Given the description of an element on the screen output the (x, y) to click on. 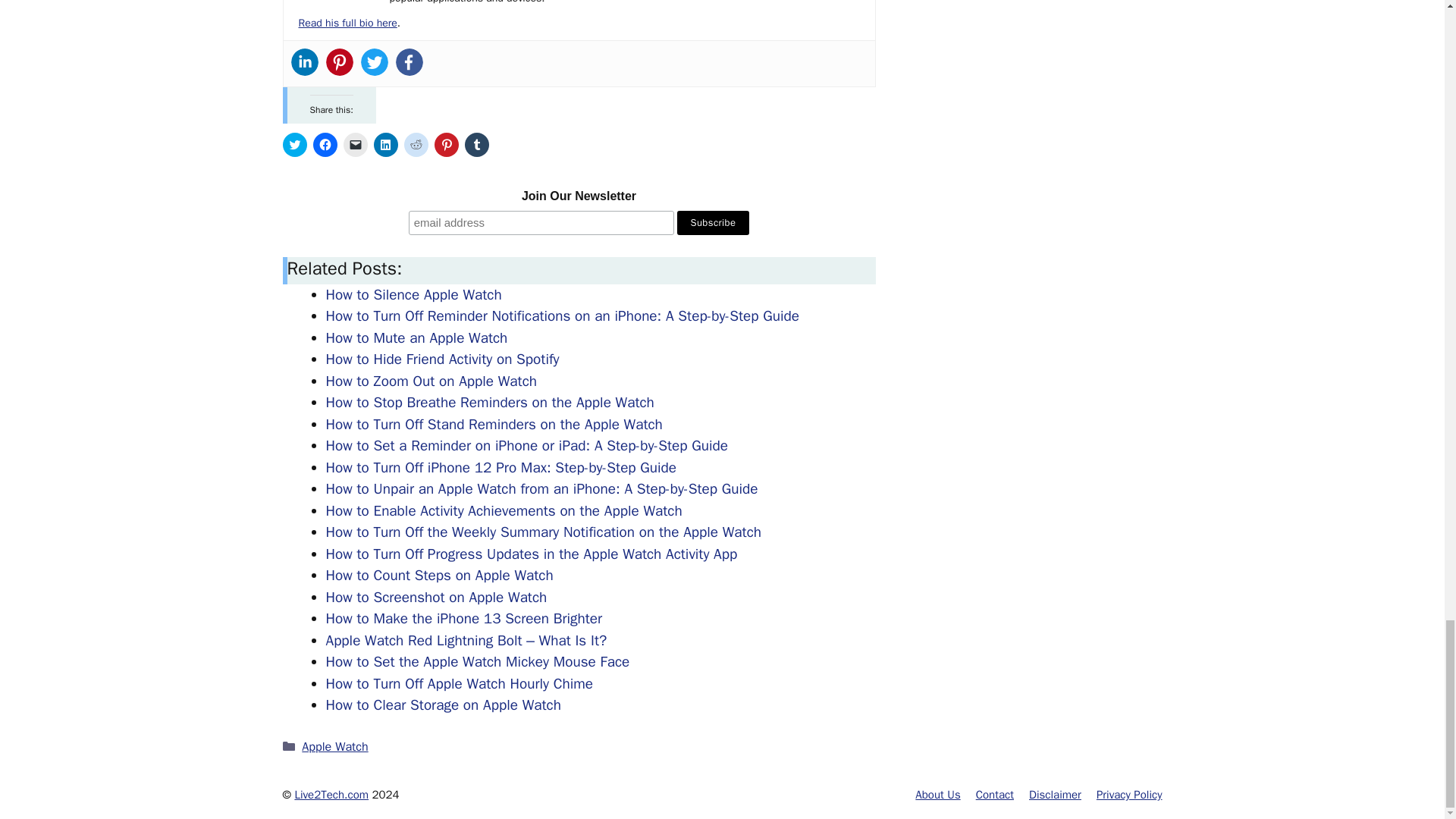
Click to share on Twitter (293, 144)
How to Turn Off Stand Reminders on the Apple Watch (494, 424)
How to Turn Off Apple Watch Hourly Chime (460, 683)
How to Hide Friend Activity on Spotify (442, 359)
How to Enable Activity Achievements on the Apple Watch (504, 511)
How to Set the Apple Watch Mickey Mouse Face (478, 661)
Facebook (409, 62)
